Given the description of an element on the screen output the (x, y) to click on. 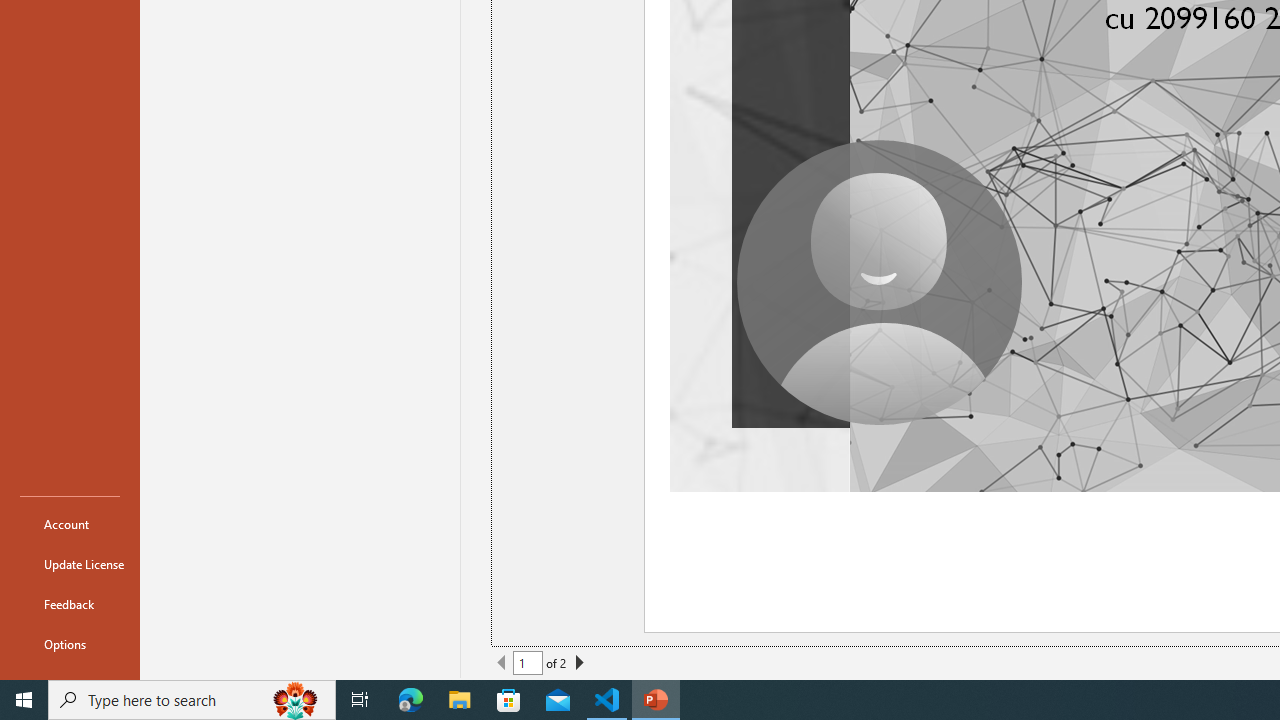
Next Page (579, 662)
Update License (69, 563)
Feedback (69, 603)
Previous Page (502, 662)
Account (69, 523)
Current Page (527, 662)
Options (69, 643)
